Given the description of an element on the screen output the (x, y) to click on. 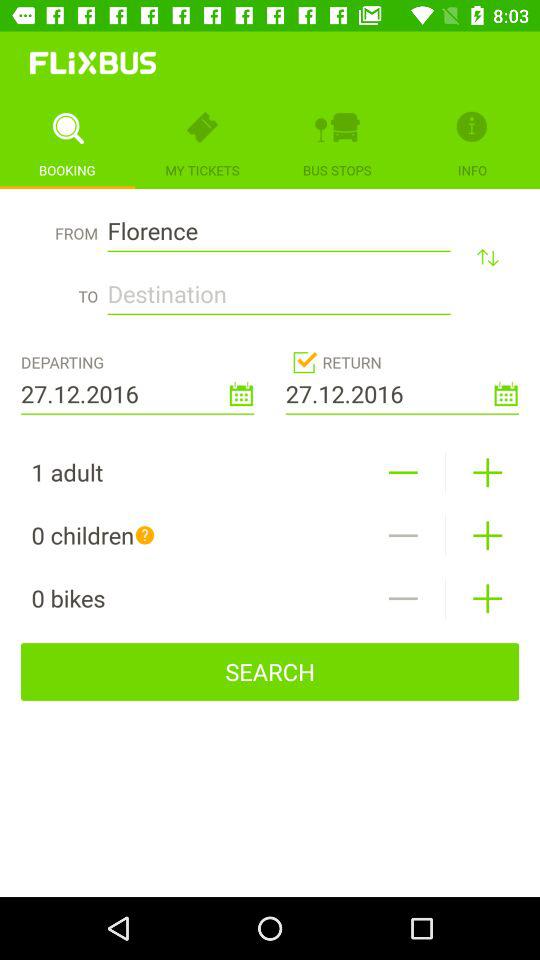
enter destination (278, 288)
